Given the description of an element on the screen output the (x, y) to click on. 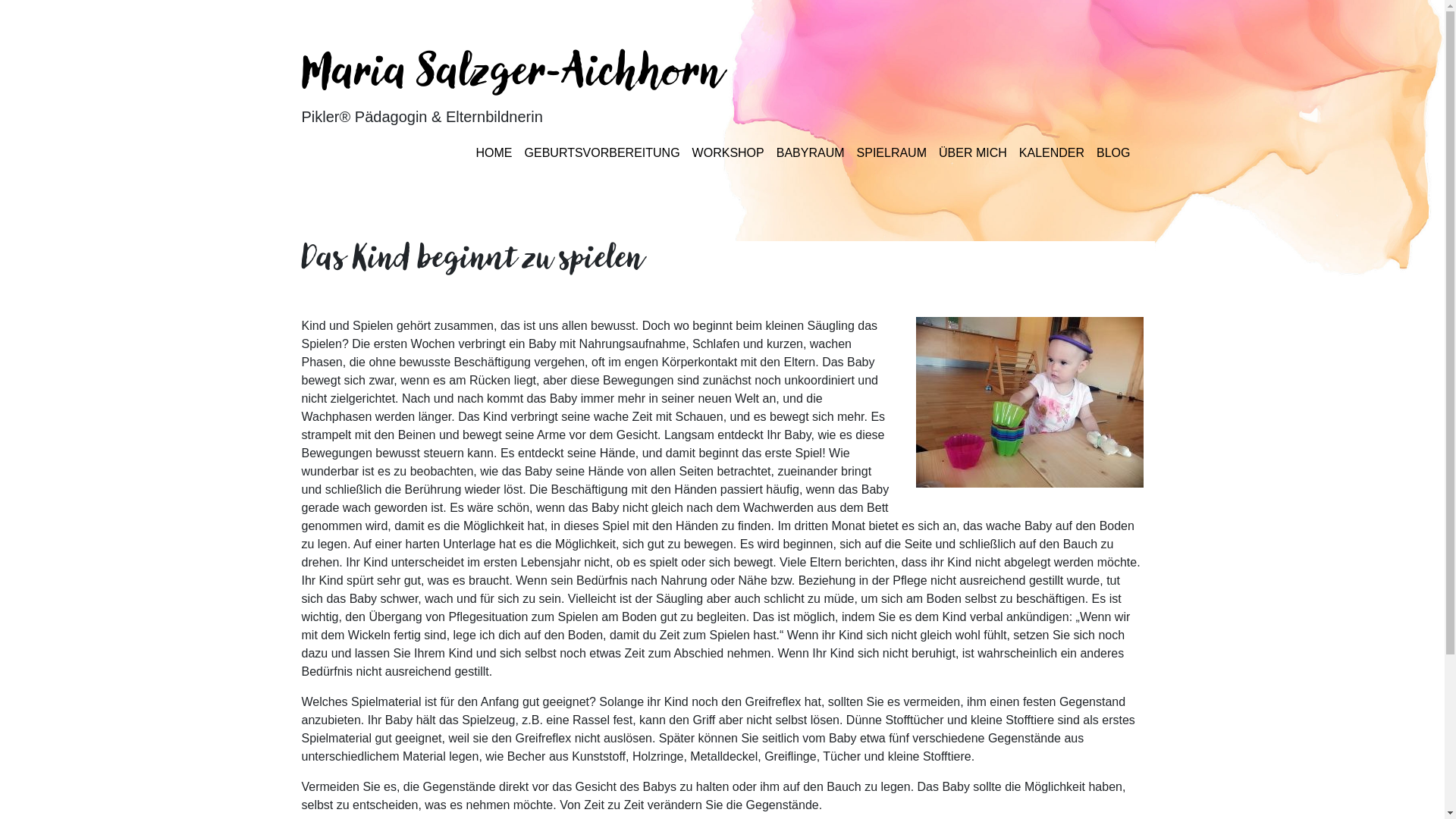
GEBURTSVORBEREITUNG Element type: text (602, 152)
KALENDER Element type: text (1051, 152)
BLOG Element type: text (1112, 152)
WORKSHOP Element type: text (728, 152)
BABYRAUM Element type: text (810, 152)
SPIELRAUM Element type: text (891, 152)
Maria Salzger-Aichhorn Element type: text (512, 74)
HOME Element type: text (494, 152)
